Given the description of an element on the screen output the (x, y) to click on. 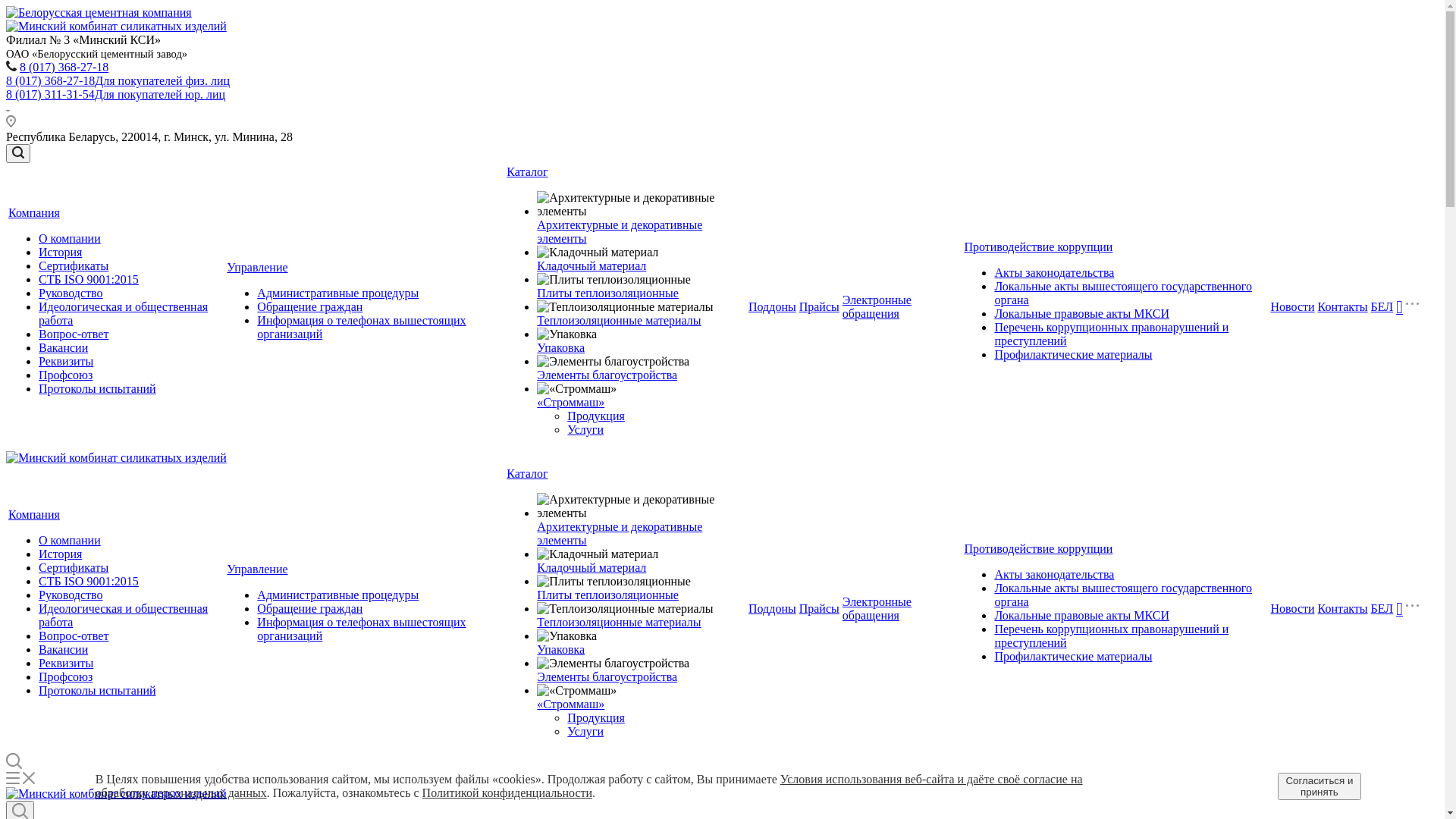
8 (017) 368-27-18 Element type: text (63, 66)
